Given the description of an element on the screen output the (x, y) to click on. 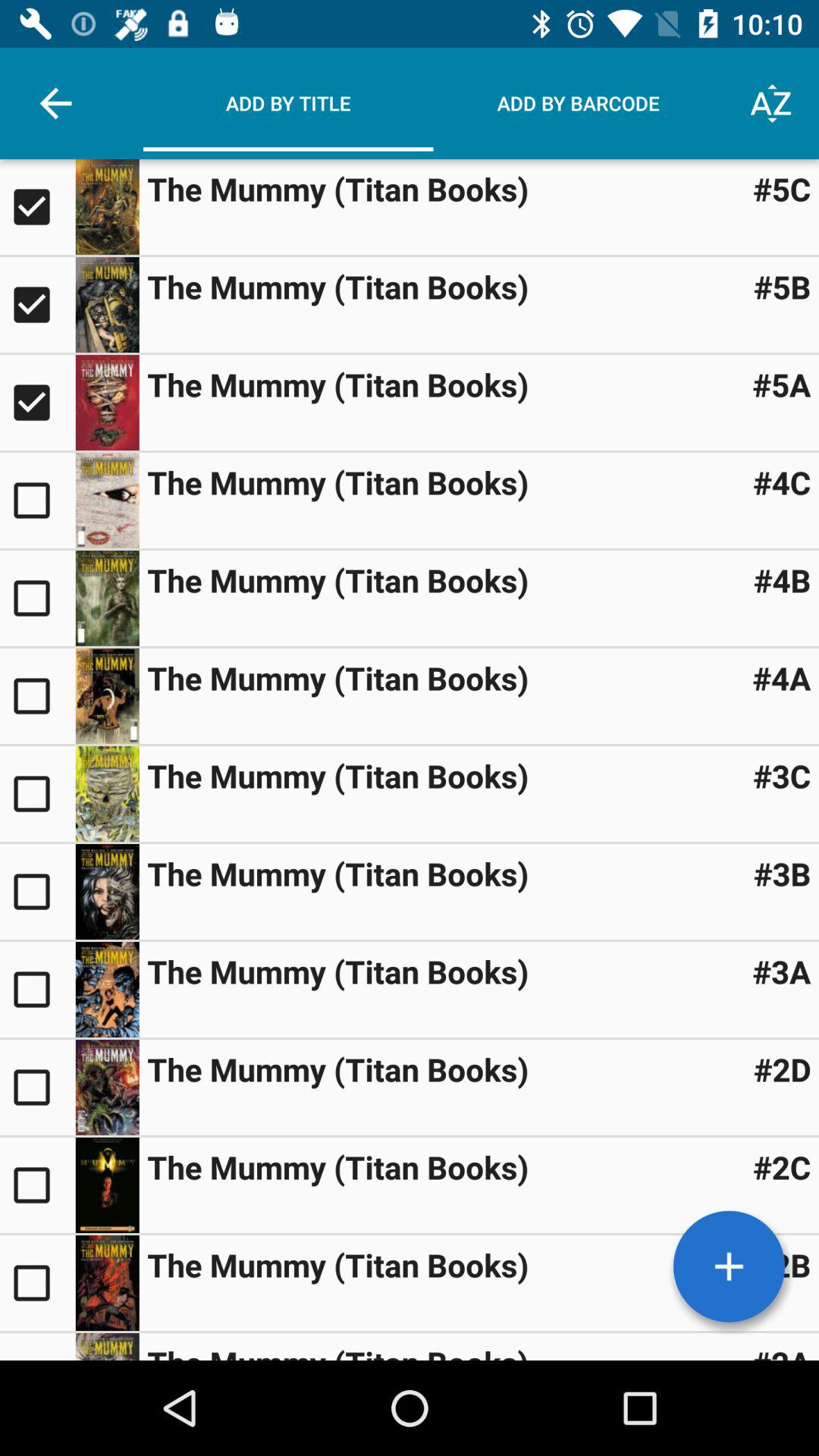
add the book 4c (37, 500)
